Given the description of an element on the screen output the (x, y) to click on. 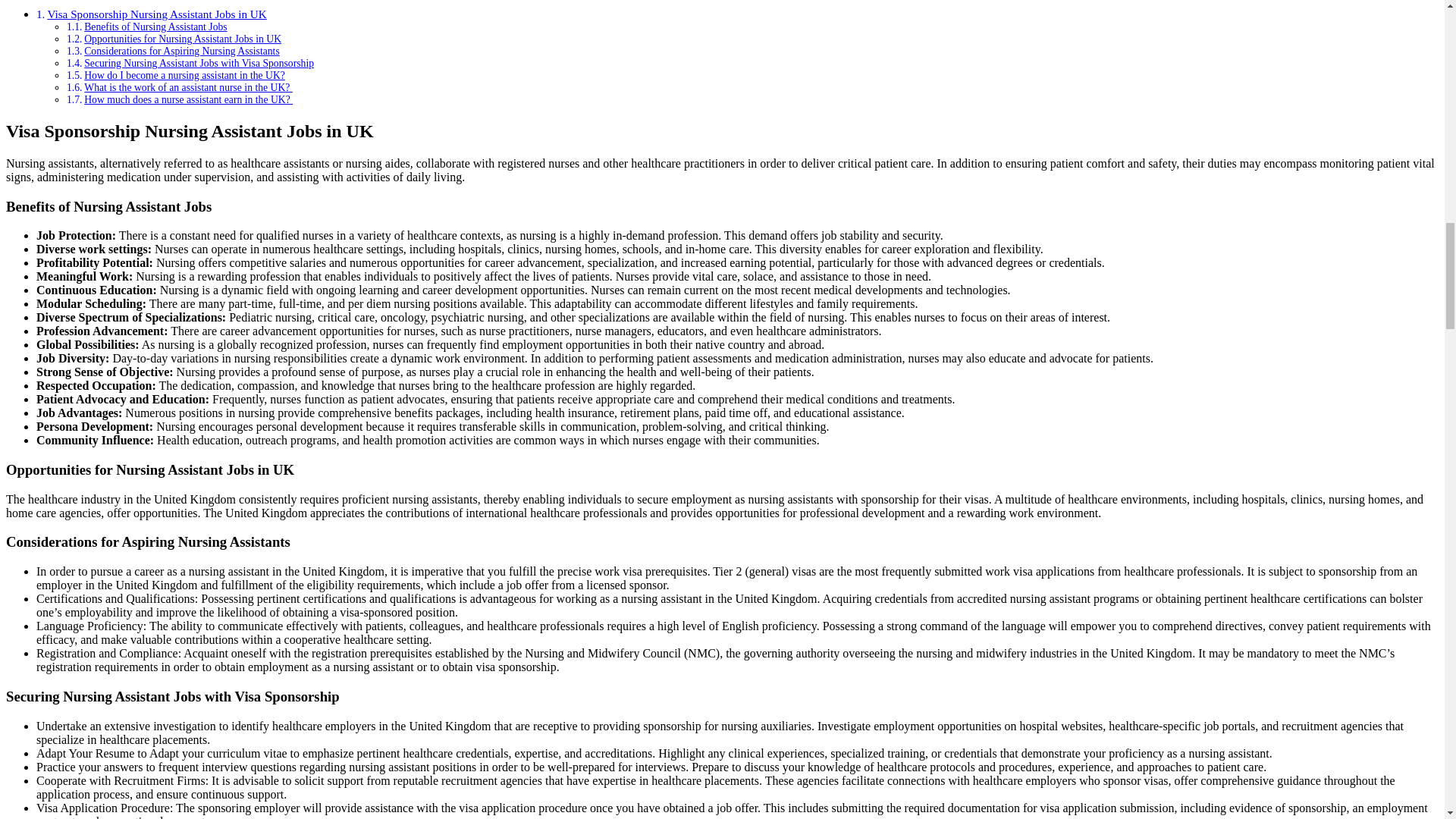
What is the work of an assistant nurse in the UK?  (188, 87)
Considerations for Aspiring Nursing Assistants (181, 50)
Opportunities for Nursing Assistant Jobs in UK (182, 39)
Considerations for Aspiring Nursing Assistants (181, 50)
How do I become a nursing assistant in the UK? (184, 75)
How do I become a nursing assistant in the UK? (184, 75)
Securing Nursing Assistant Jobs with Visa Sponsorship (199, 62)
Securing Nursing Assistant Jobs with Visa Sponsorship (199, 62)
Benefits of Nursing Assistant Jobs (155, 26)
How much does a nurse assistant earn in the UK?  (188, 99)
Visa Sponsorship Nursing Assistant Jobs in UK (156, 13)
Opportunities for Nursing Assistant Jobs in UK (182, 39)
Visa Sponsorship Nursing Assistant Jobs in UK (156, 13)
